Given the description of an element on the screen output the (x, y) to click on. 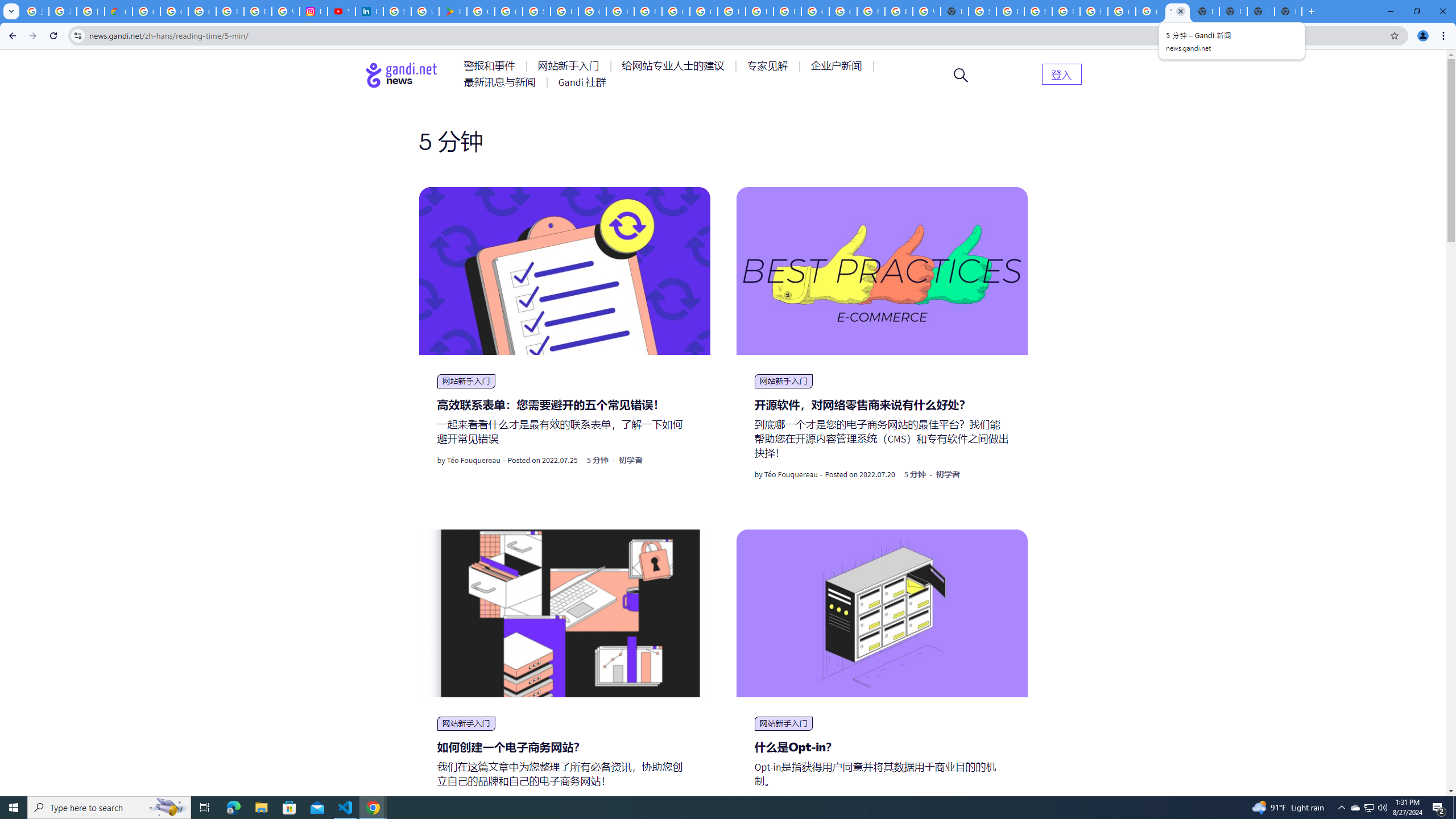
AutomationID: menu-item-77767 (581, 82)
New Tab (1233, 11)
AutomationID: menu-item-77763 (674, 65)
